Given the description of an element on the screen output the (x, y) to click on. 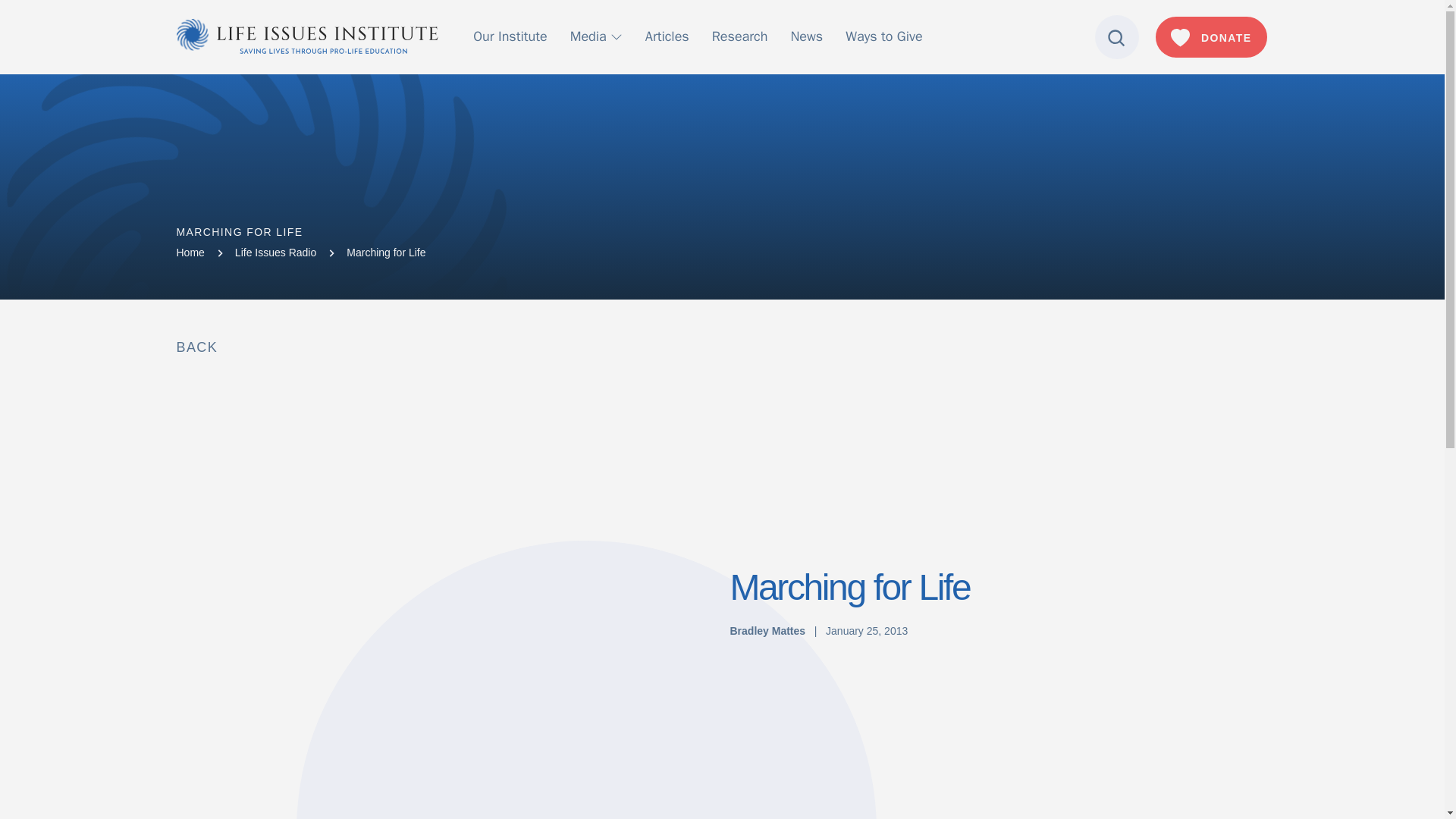
News (806, 36)
BACK (196, 347)
Home (189, 252)
Our Institute (510, 36)
Ways to Give (883, 36)
DONATE (1211, 36)
Articles (666, 36)
Life Issues Radio (274, 252)
Research (739, 36)
Media (596, 36)
